Given the description of an element on the screen output the (x, y) to click on. 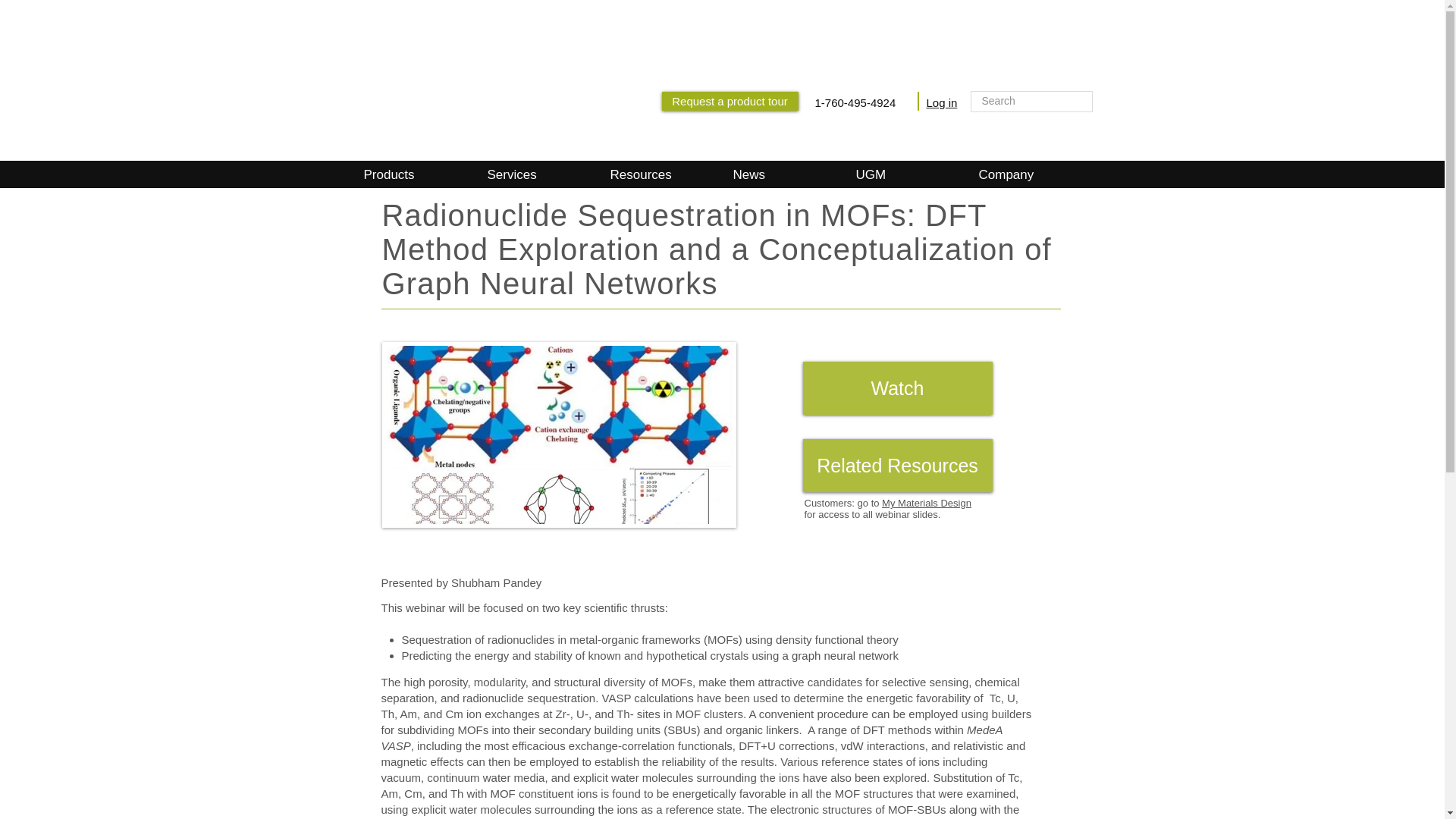
Company (1026, 174)
My Materials Design (926, 502)
Resources (658, 174)
UGM (904, 174)
Services (535, 174)
Log in (942, 102)
Products (413, 174)
Request a product tour (729, 100)
radionuclide-webinar.jpg (558, 434)
